Given the description of an element on the screen output the (x, y) to click on. 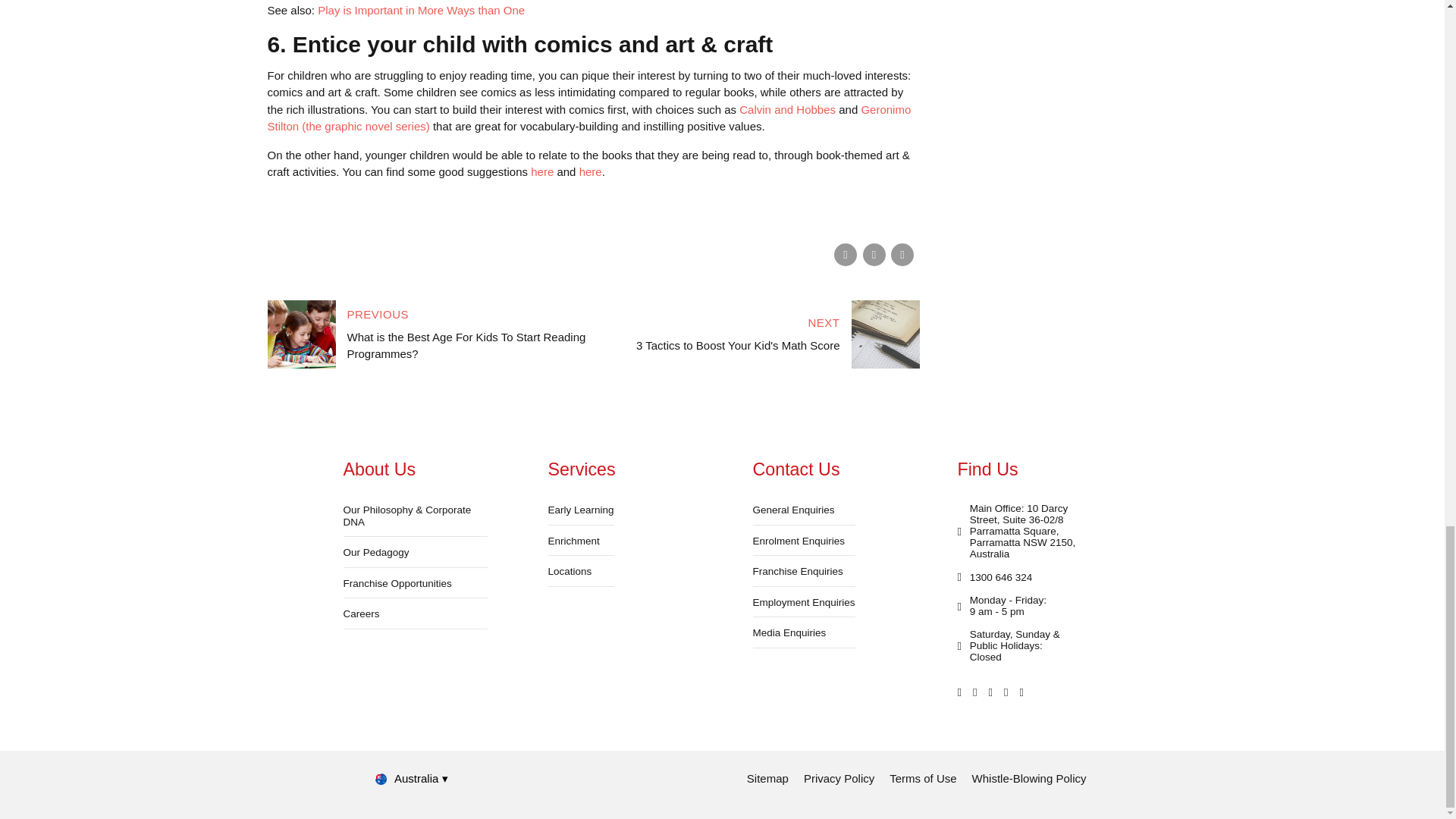
Share on Facebook (845, 254)
Share on Linkedin (902, 254)
Share on Twitter (874, 254)
1300 646 324 (994, 576)
